Given the description of an element on the screen output the (x, y) to click on. 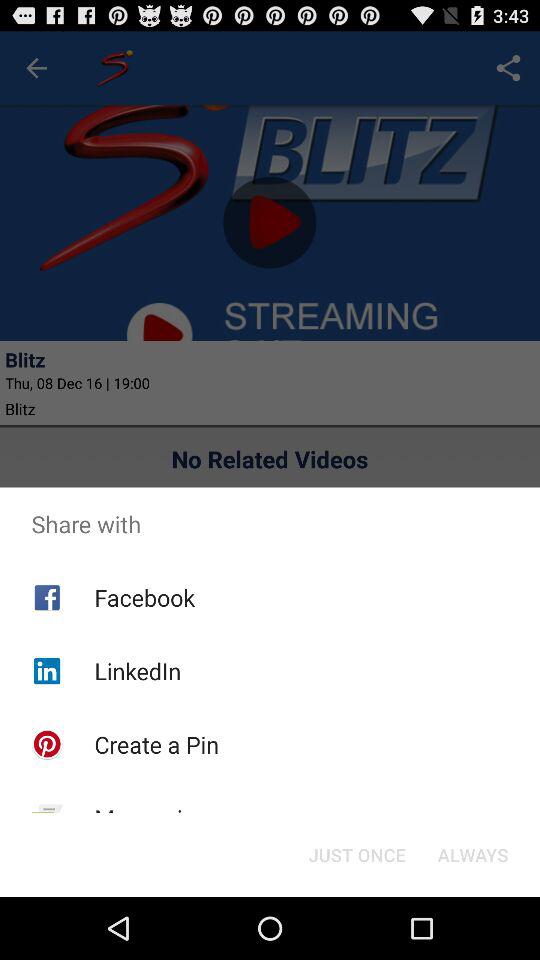
flip until the always button (472, 854)
